Given the description of an element on the screen output the (x, y) to click on. 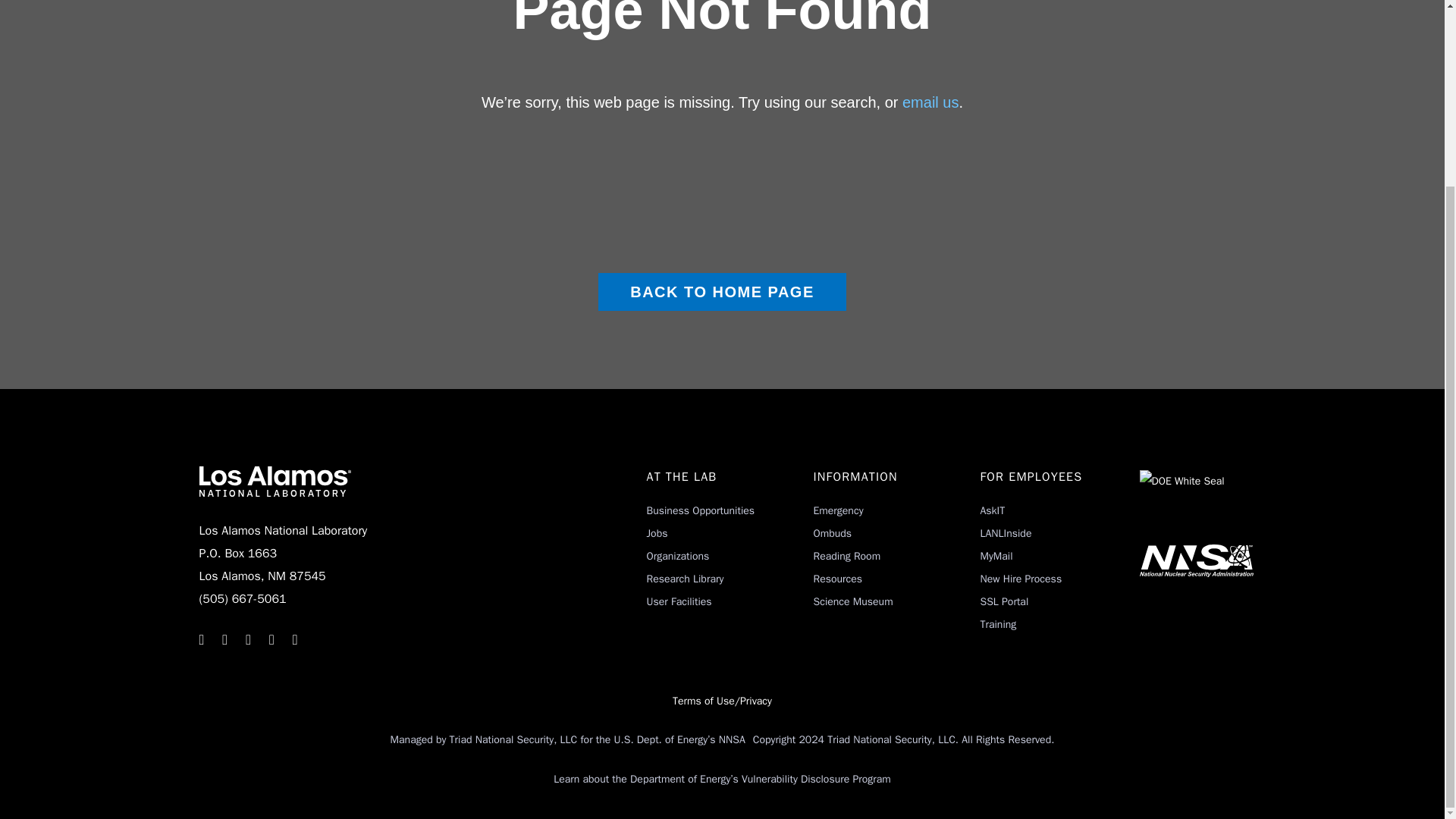
User Facilities (678, 601)
Organizations (677, 555)
Business Opportunities (700, 510)
BACK TO HOME PAGE (721, 291)
Science Museum (852, 601)
Reading Room (846, 555)
Ombuds (831, 533)
Jobs (656, 533)
AskIT (991, 510)
email us (930, 102)
